Given the description of an element on the screen output the (x, y) to click on. 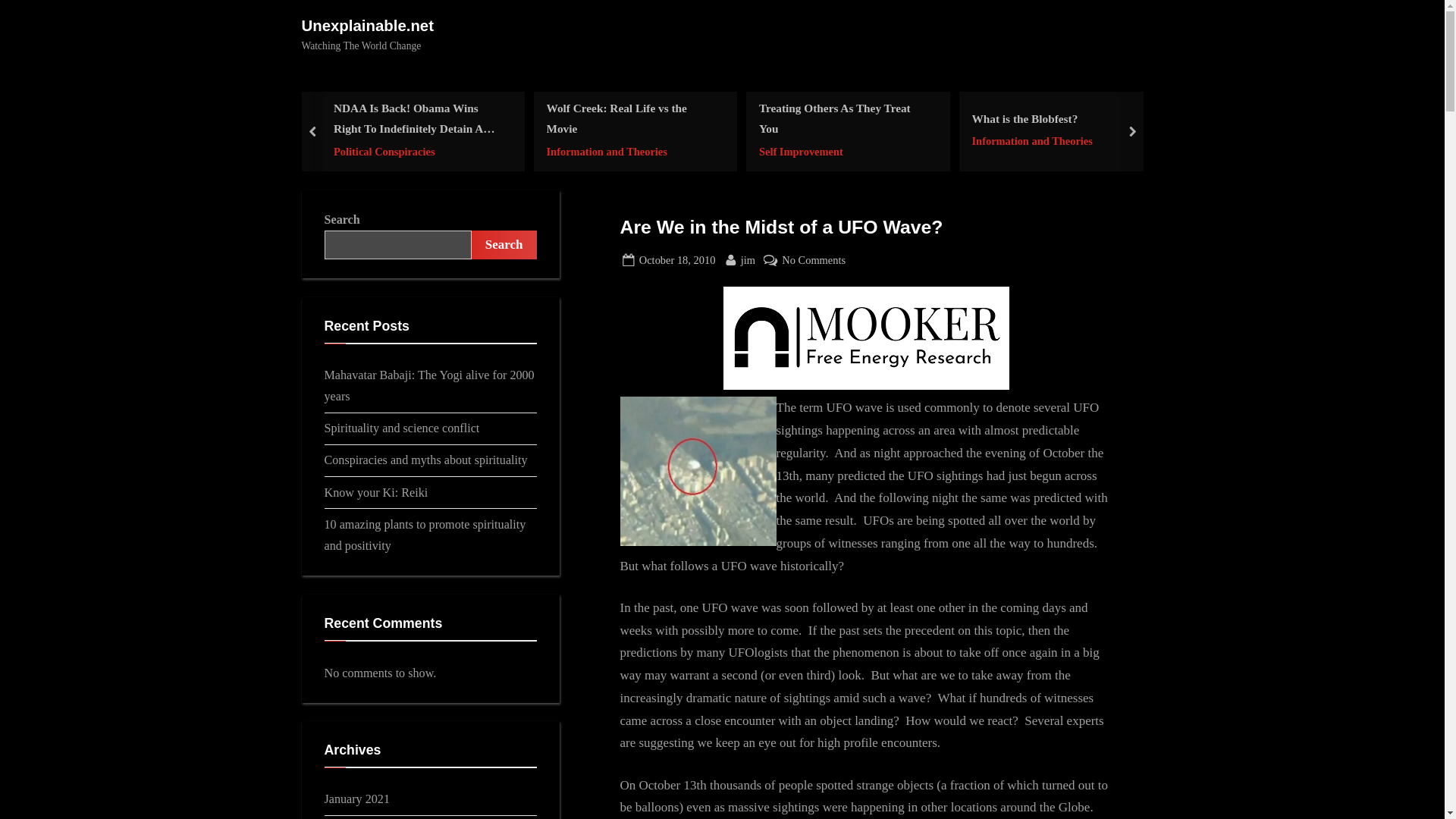
Information and Theories (1031, 140)
Wolf Creek: Real Life vs the Movie (630, 118)
Political Conspiracies (417, 150)
Unexplainable.net (367, 25)
Self Improvement (677, 260)
What is the Blobfest? (842, 150)
Information and Theories (1031, 118)
